Given the description of an element on the screen output the (x, y) to click on. 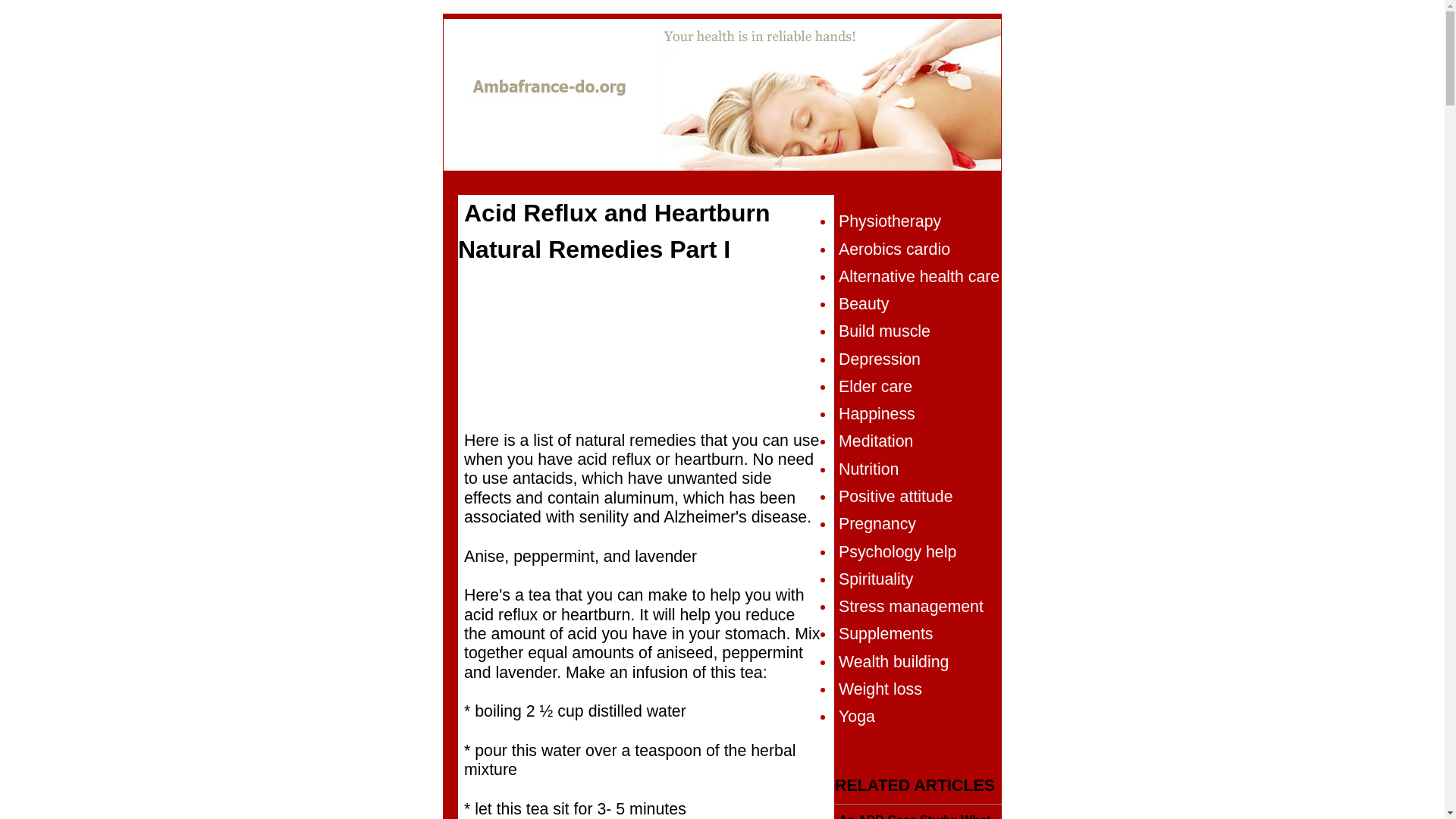
Spirituality (875, 579)
nutrition (868, 469)
spirituality (875, 579)
Weight loss (879, 689)
psychology online (897, 551)
Orthopaedic Physiotherapy online ressources (889, 221)
build-muscle (884, 331)
Psychology help (897, 551)
beauty (863, 303)
happiness (876, 413)
Happiness (876, 413)
Physiotherapy (889, 221)
Positive attitude (895, 496)
Yoga (856, 716)
aerobics cardio (894, 249)
